Given the description of an element on the screen output the (x, y) to click on. 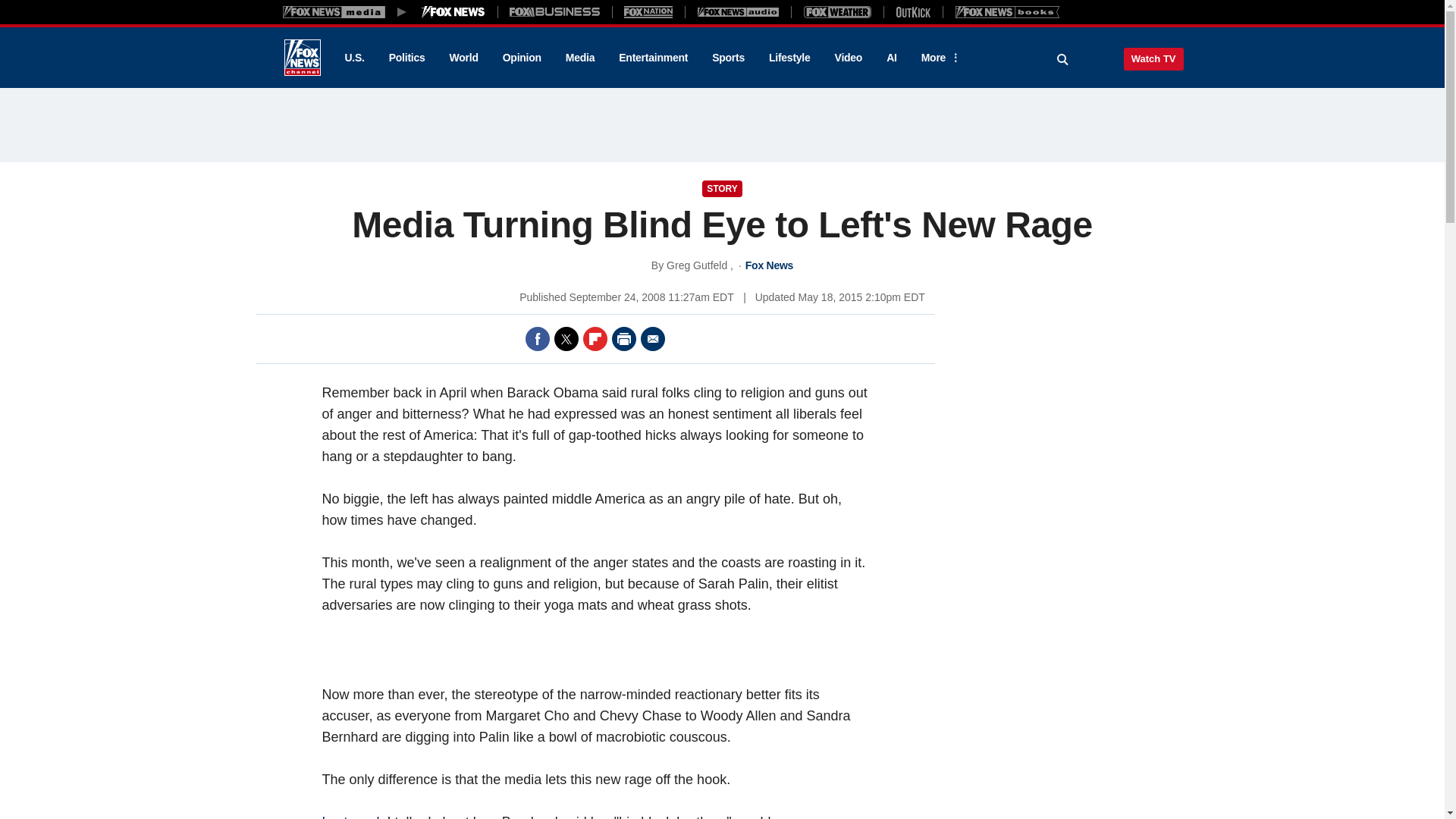
Opinion (521, 57)
U.S. (353, 57)
Fox Weather (836, 11)
More (938, 57)
Fox Business (554, 11)
Video (848, 57)
World (464, 57)
Politics (407, 57)
Watch TV (1153, 58)
Sports (728, 57)
